Given the description of an element on the screen output the (x, y) to click on. 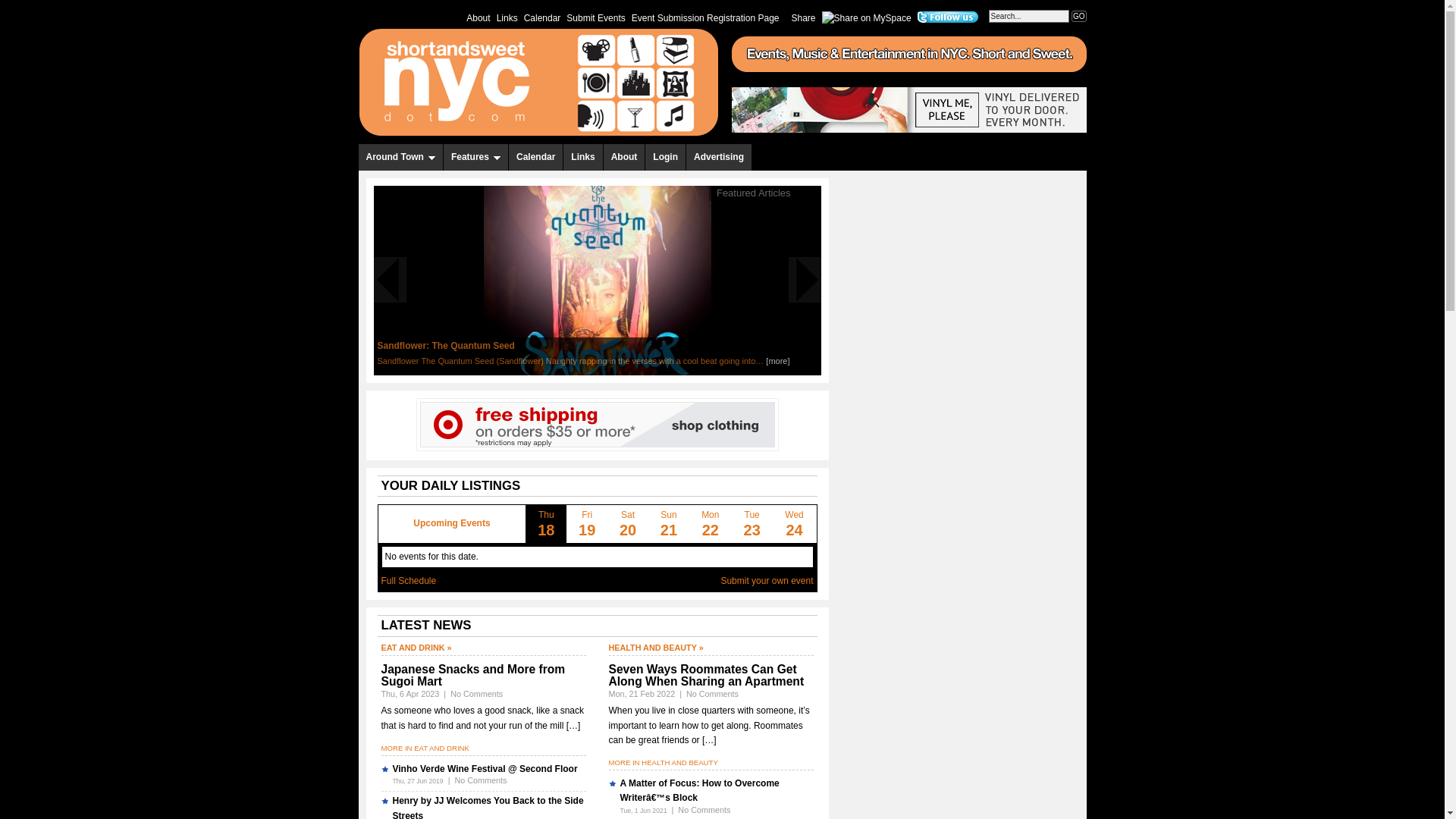
Calendar (542, 17)
Submit Events (595, 17)
twitter-icon.com (947, 17)
Read Henry by JJ Welcomes You Back to the Side Streets (488, 807)
Calendar (535, 157)
More articles in Eat and Drink (415, 646)
Read Japanese Snacks and More from Sugoi Mart (472, 674)
Search... (1028, 15)
GO (1078, 16)
Featured Articles (753, 192)
More articles in Health and Beauty (655, 646)
About (478, 17)
Share (803, 17)
GO (1078, 16)
